Given the description of an element on the screen output the (x, y) to click on. 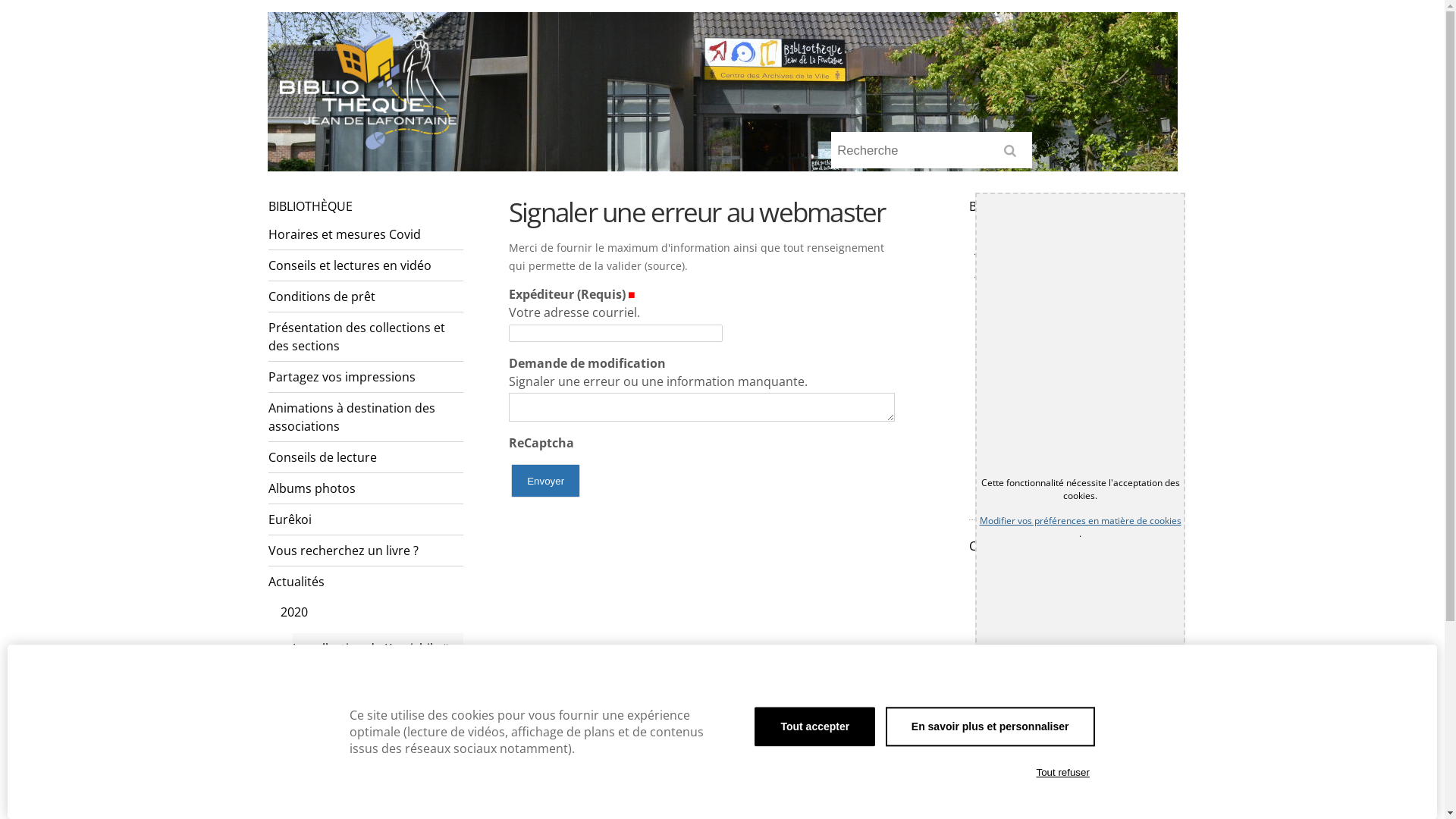
Tout refuser Element type: text (1063, 772)
Envoyer Element type: text (545, 480)
En savoir plus et personnaliser Element type: text (990, 726)
Albums photos Element type: text (365, 488)
Vous recherchez un livre ? Element type: text (365, 550)
Rechercher Element type: text (1013, 155)
Conseils de lecture Element type: text (365, 457)
2020 Element type: text (371, 611)
Partagez vos impressions Element type: text (365, 376)
Tout accepter Element type: text (814, 726)
www.ath.be Element type: text (1125, 733)
Horaires et mesures Covid Element type: text (365, 234)
Recherche Element type: hover (931, 150)
